Given the description of an element on the screen output the (x, y) to click on. 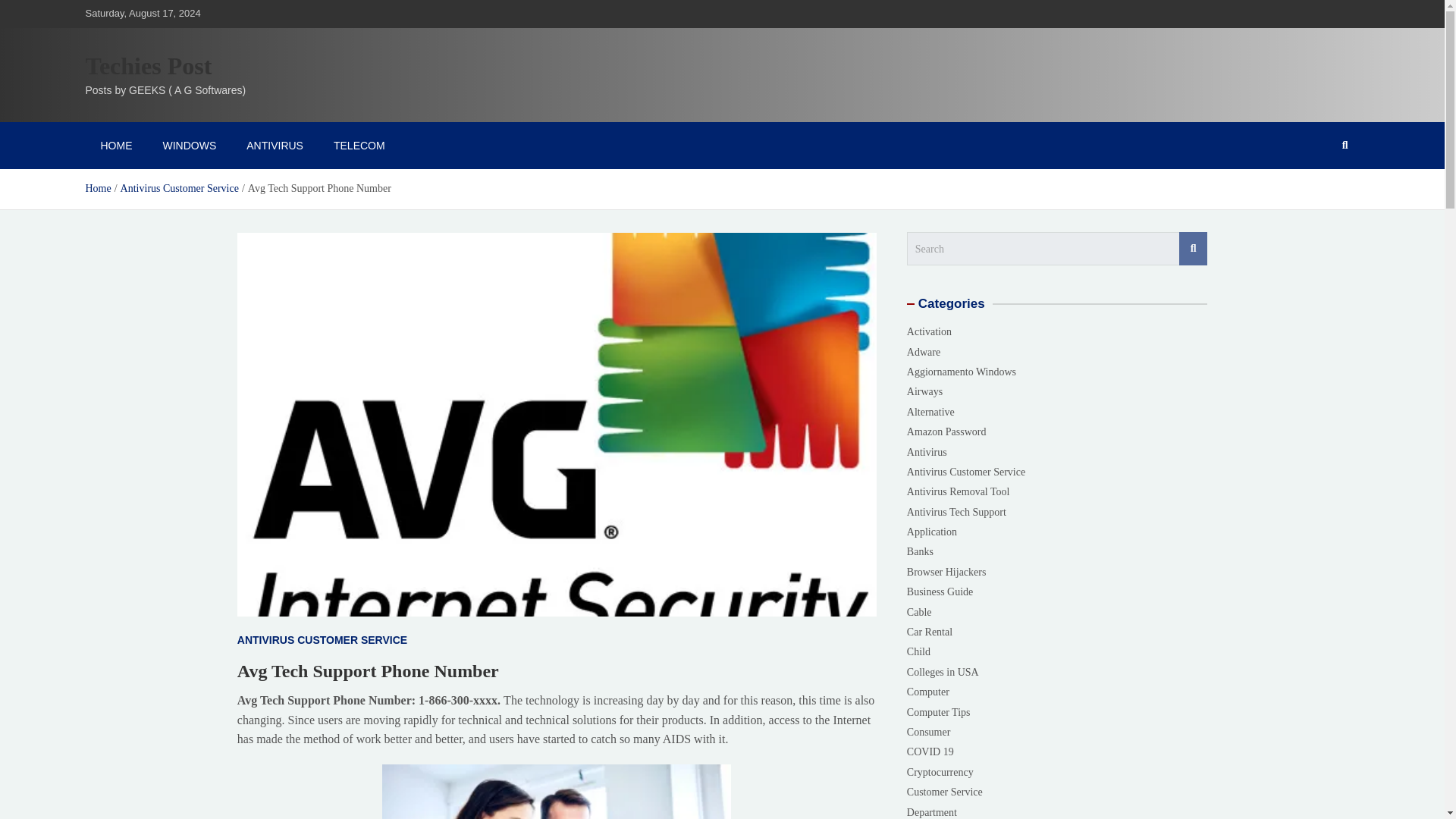
WINDOWS (189, 145)
Aggiornamento Windows (961, 371)
Browser Hijackers (947, 572)
Antivirus Removal Tool (958, 491)
Adware (923, 351)
Airways (924, 392)
Antivirus Tech Support (956, 511)
Alternative (931, 411)
TELECOM (359, 145)
ANTIVIRUS CUSTOMER SERVICE (320, 639)
